Given the description of an element on the screen output the (x, y) to click on. 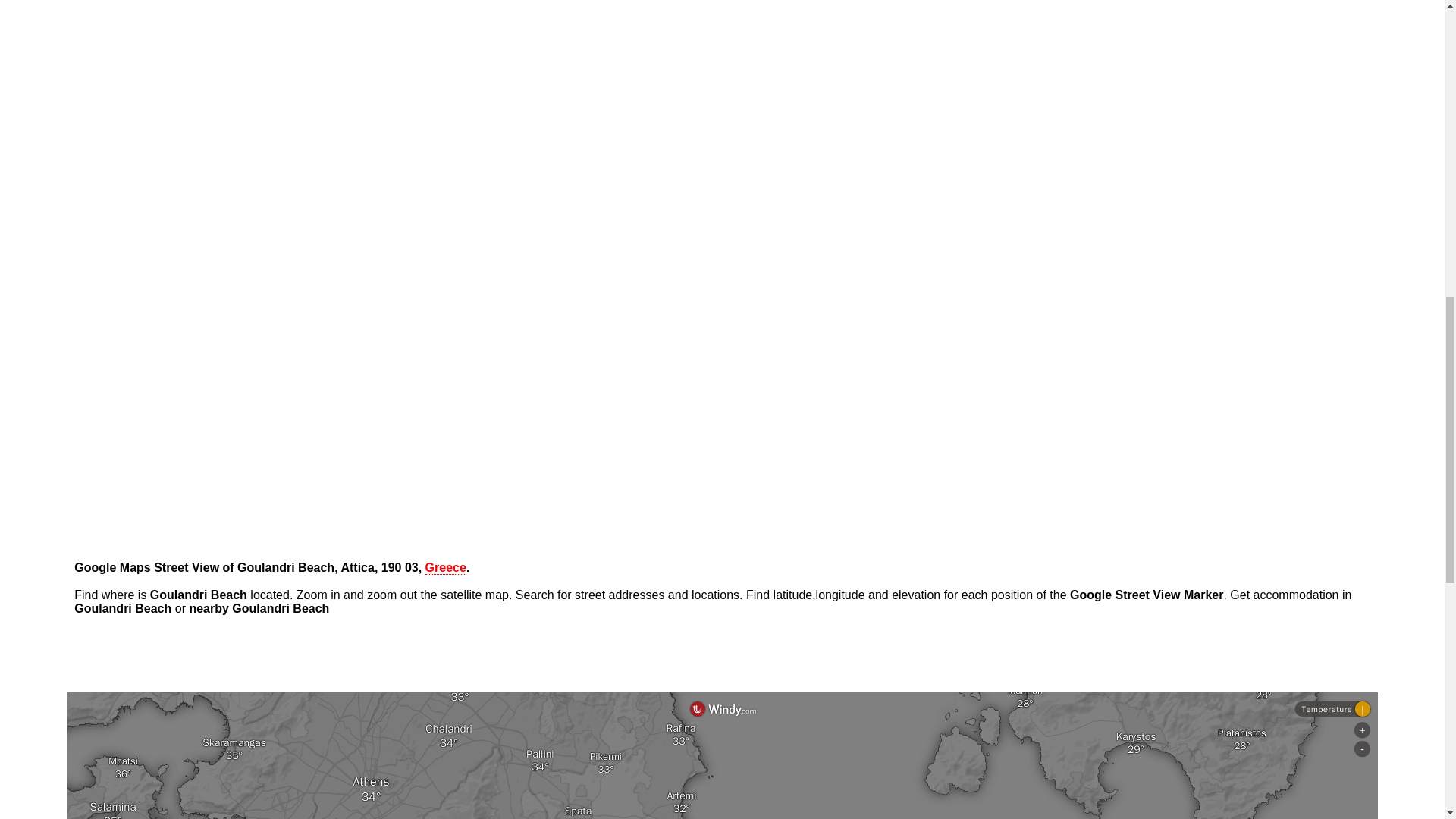
Advertisement (721, 30)
Greece (445, 567)
Google Street View Greece (445, 567)
